Given the description of an element on the screen output the (x, y) to click on. 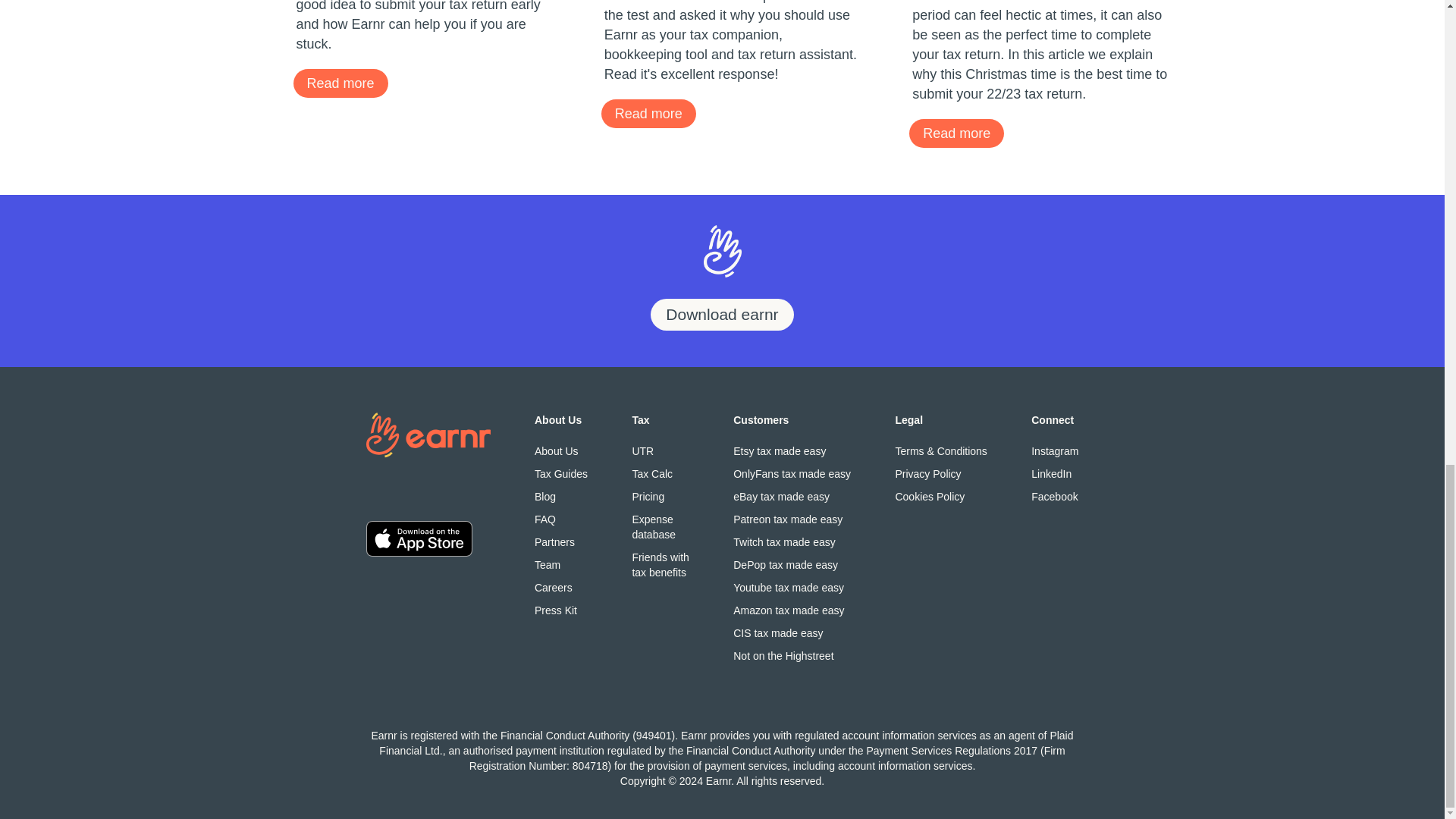
Team (561, 564)
Read more (339, 82)
Partners (561, 541)
Press Kit (555, 610)
Tax Calc (659, 473)
Blog (561, 496)
Careers (561, 587)
About Us (561, 450)
Download earnr (721, 314)
Pricing (659, 496)
Read more (648, 113)
Read more (956, 133)
FAQ (561, 519)
UTR (659, 450)
Tax Guides (561, 473)
